Given the description of an element on the screen output the (x, y) to click on. 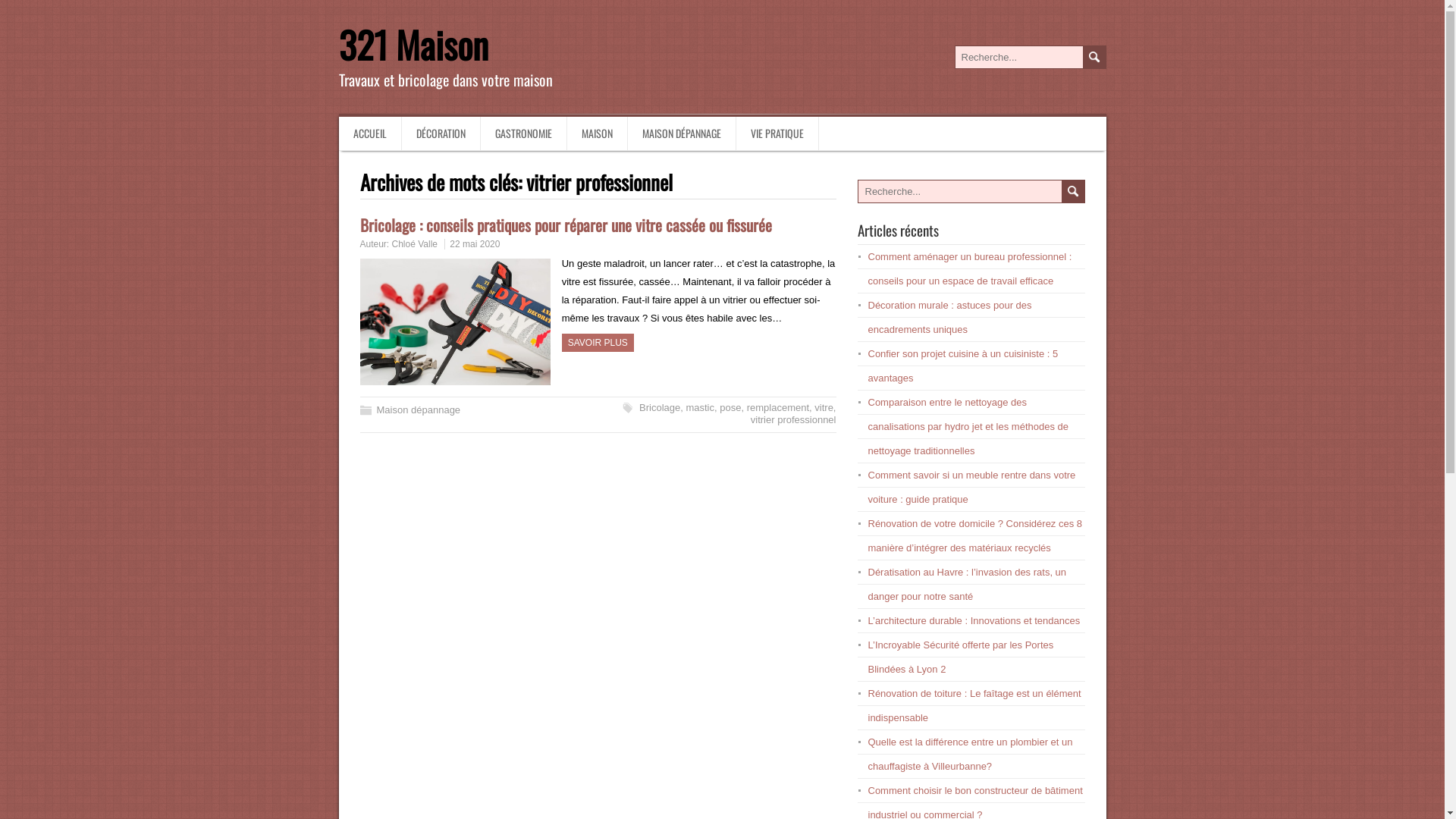
SAVOIR PLUS Element type: text (597, 342)
VIE PRATIQUE Element type: text (776, 133)
mastic Element type: text (699, 407)
vitre Element type: text (823, 407)
Bricolage Element type: text (659, 407)
ACCUEIL Element type: text (369, 133)
vitrier professionnel Element type: text (793, 419)
pose Element type: text (729, 407)
321 Maison Element type: text (412, 44)
GASTRONOMIE Element type: text (523, 133)
22 mai 2020 Element type: text (474, 243)
remplacement Element type: text (777, 407)
MAISON Element type: text (597, 133)
